Given the description of an element on the screen output the (x, y) to click on. 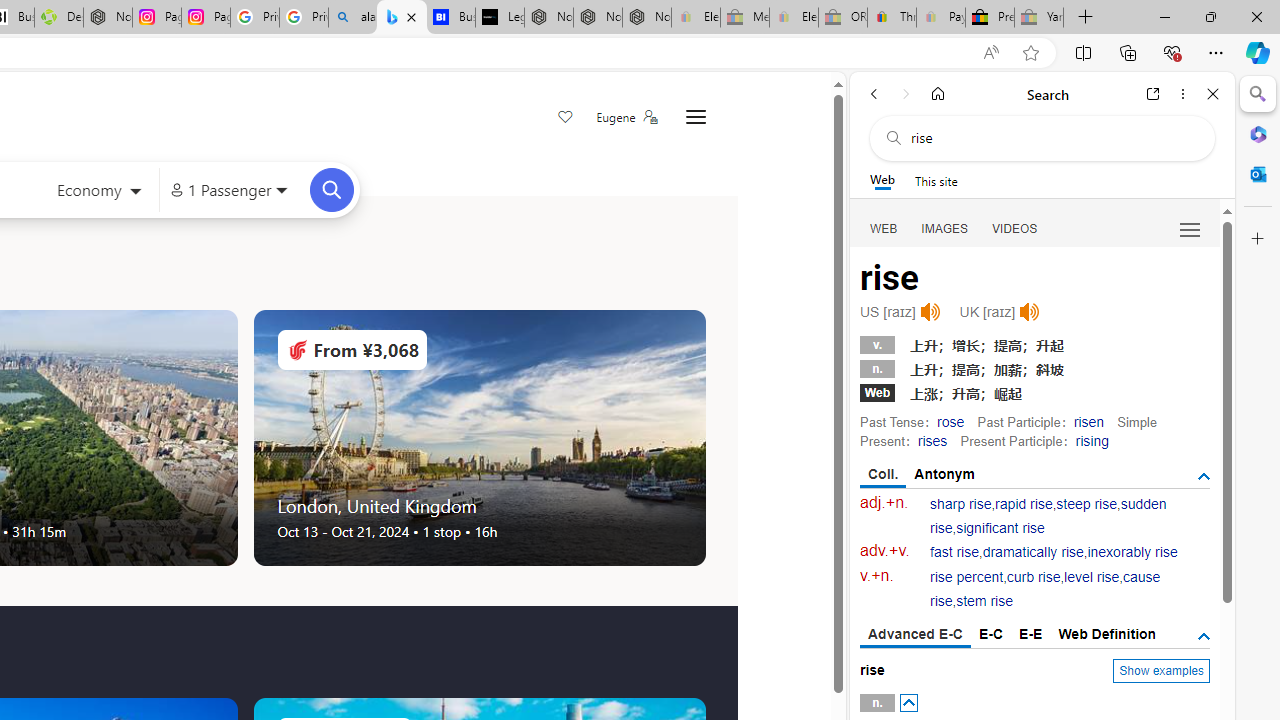
IMAGES (944, 228)
Forward (906, 93)
rises (932, 440)
E-C (991, 633)
WEB (884, 228)
Search the web (1051, 137)
dramatically rise (1032, 552)
stem rise (984, 601)
Web scope (882, 180)
